Given the description of an element on the screen output the (x, y) to click on. 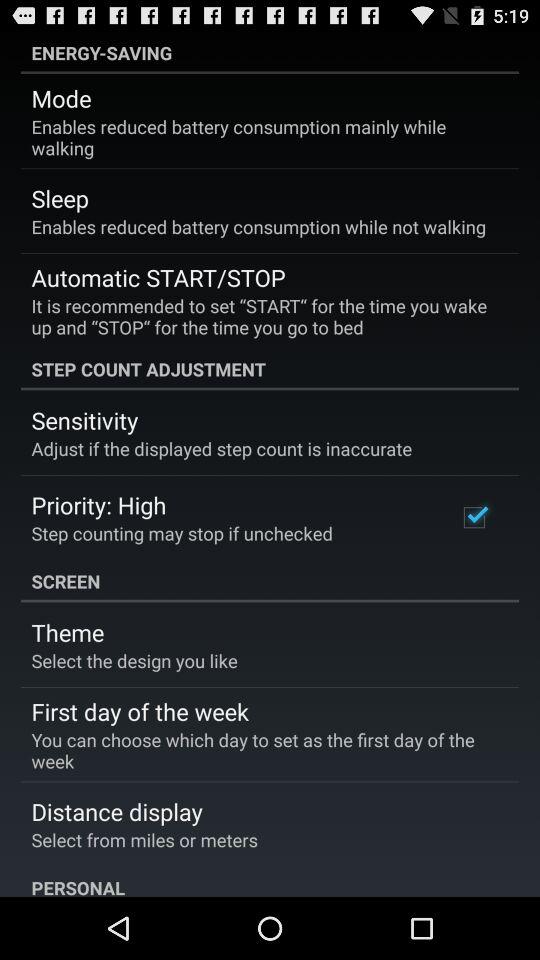
swipe until the sensitivity item (84, 420)
